Given the description of an element on the screen output the (x, y) to click on. 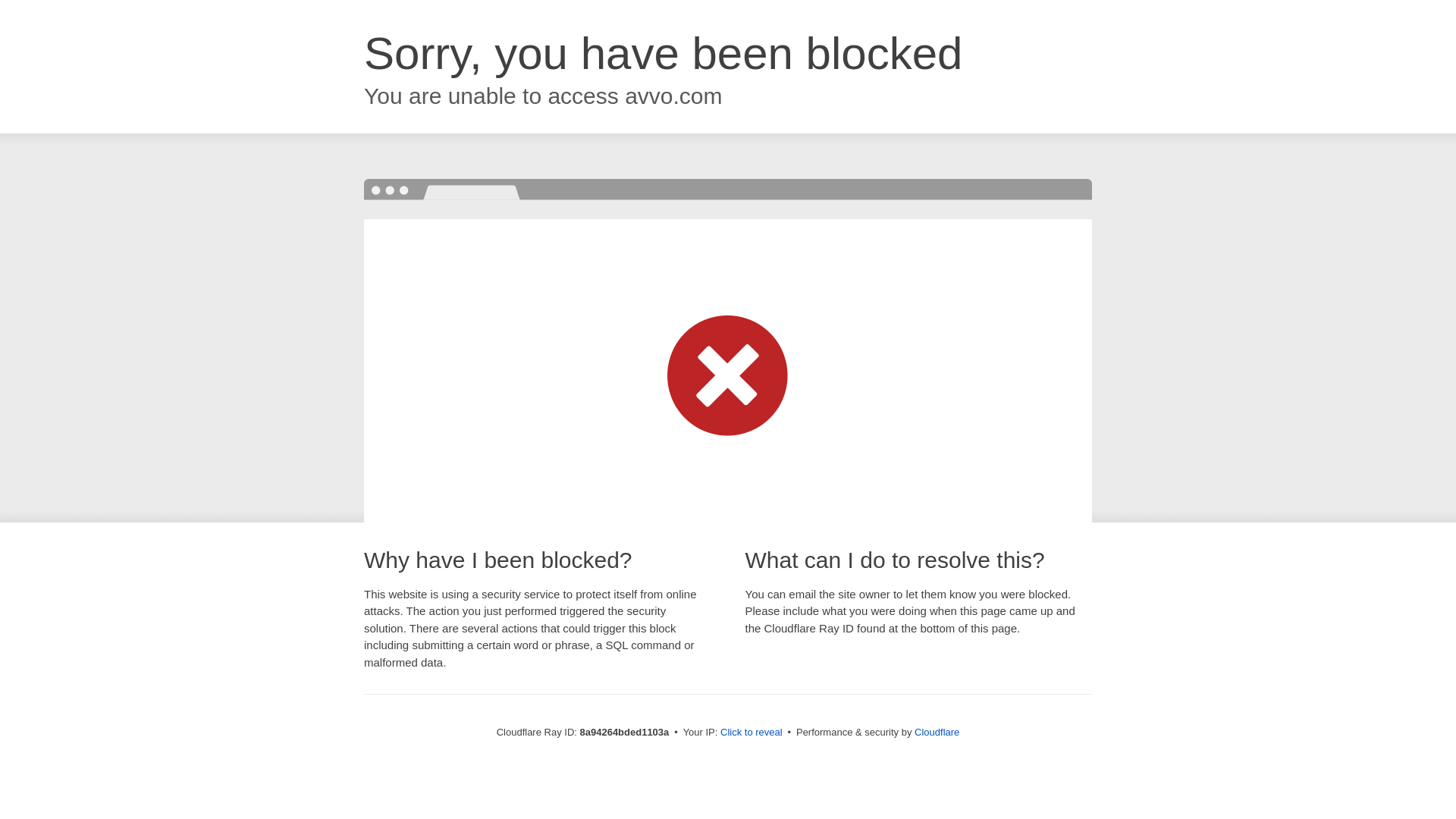
Click to reveal (751, 732)
Cloudflare (936, 731)
